Given the description of an element on the screen output the (x, y) to click on. 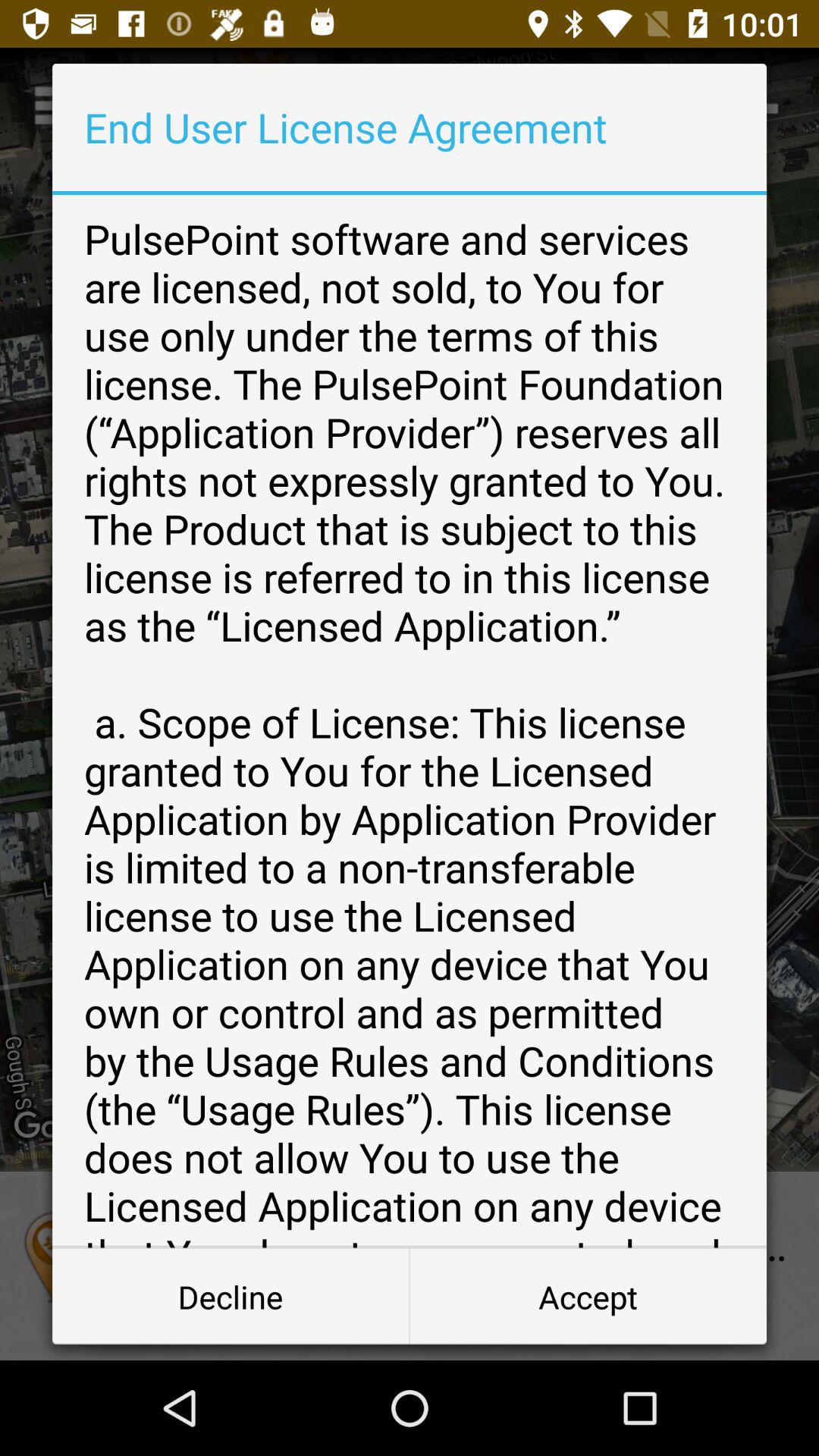
flip until accept (588, 1296)
